Given the description of an element on the screen output the (x, y) to click on. 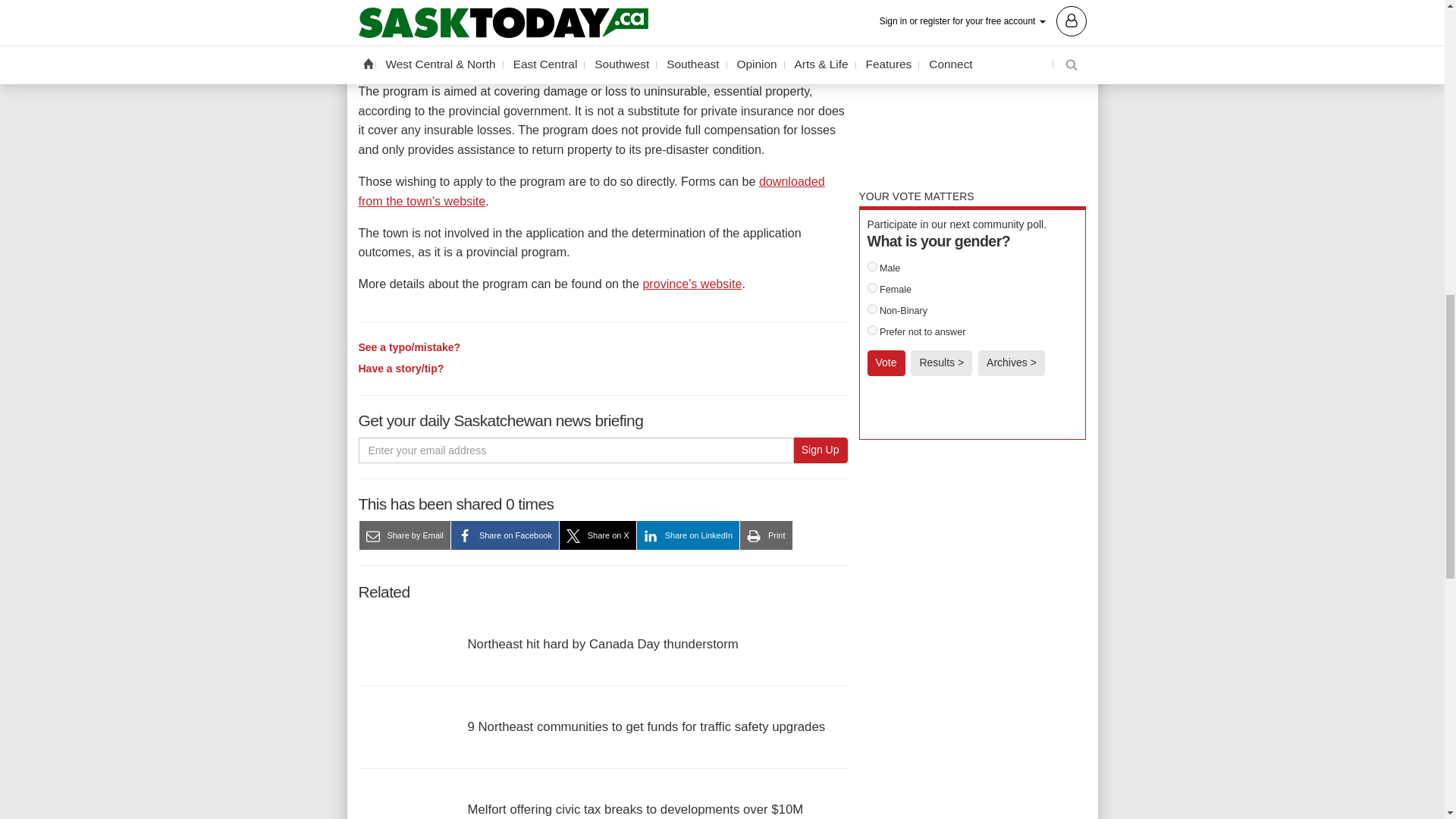
116709 (872, 329)
116706 (872, 266)
116708 (872, 308)
116707 (872, 287)
